Given the description of an element on the screen output the (x, y) to click on. 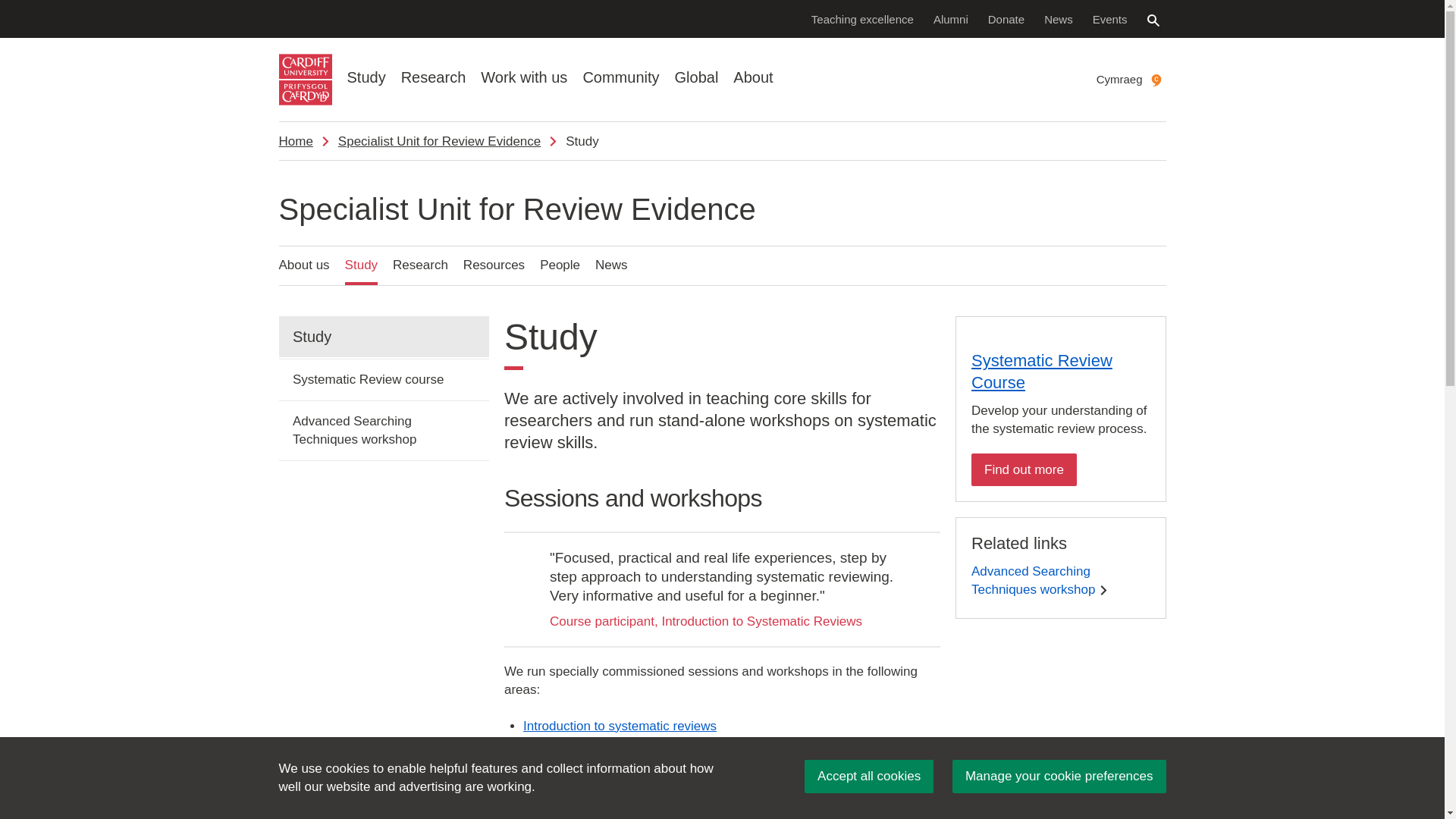
Cardiff University logo (305, 79)
Search (1152, 20)
Events (1109, 19)
Teaching excellence (862, 19)
Chevron right (1103, 590)
cymraeg (1155, 80)
News (1058, 19)
Manage your cookie preferences (1059, 776)
Cardiff University logo (305, 79)
Alumni (951, 19)
